Given the description of an element on the screen output the (x, y) to click on. 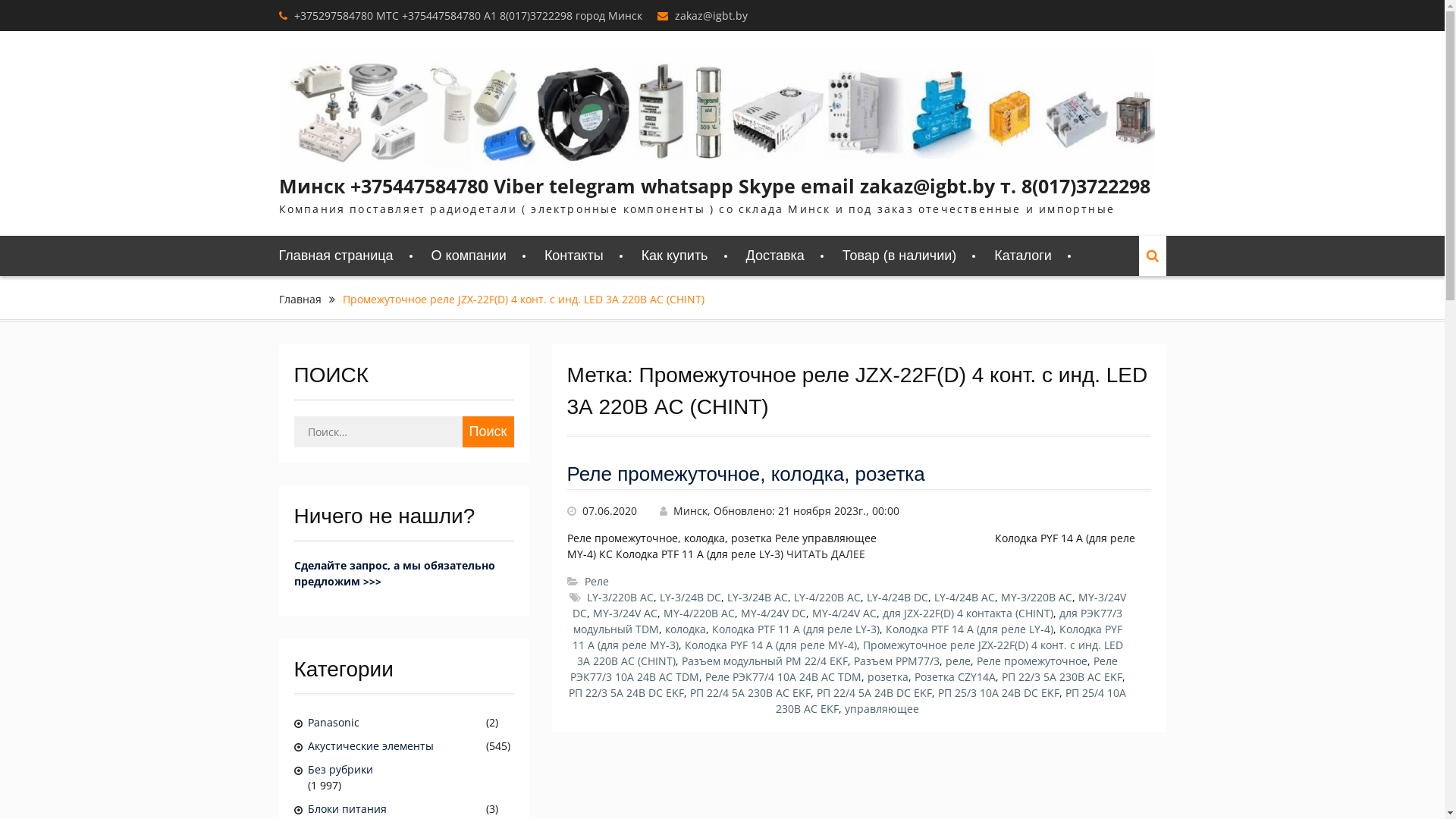
07.06.2020 Element type: text (609, 510)
Panasonic Element type: text (395, 722)
zakaz@igbt.by Element type: text (710, 15)
